Given the description of an element on the screen output the (x, y) to click on. 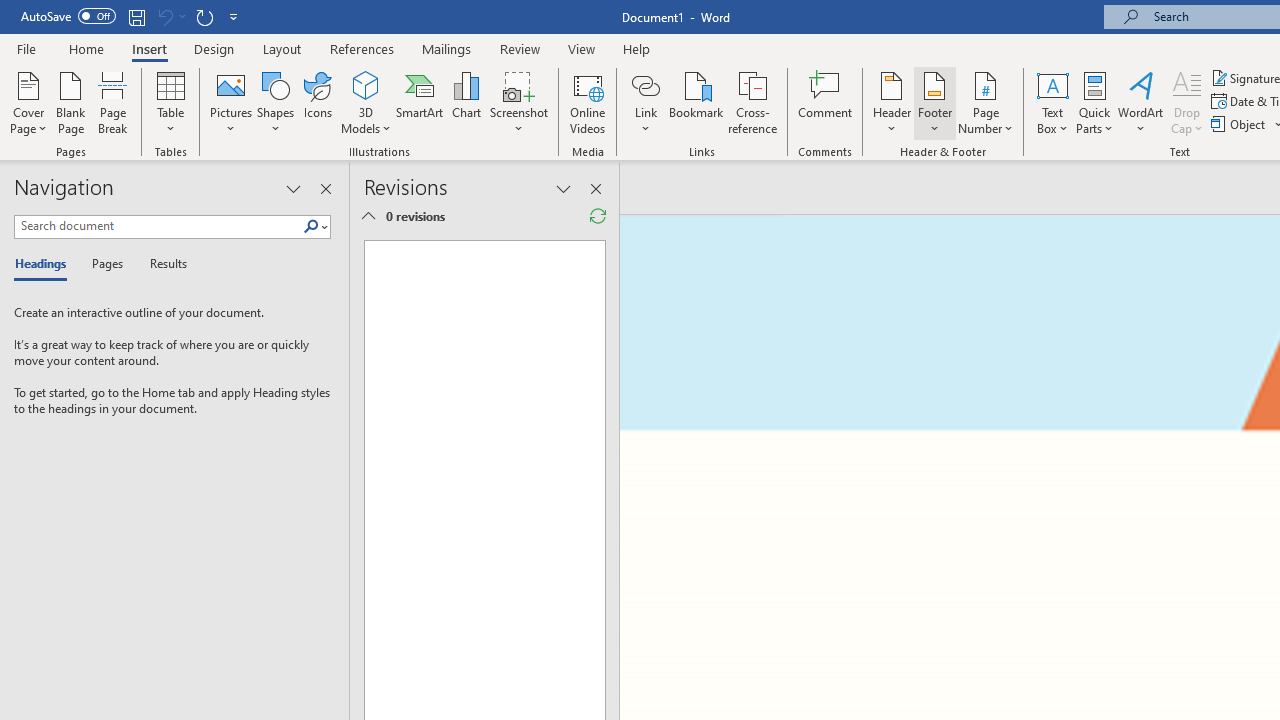
Can't Undo (164, 15)
Bookmark... (695, 102)
Screenshot (518, 102)
Online Videos... (588, 102)
SmartArt... (419, 102)
Icons (317, 102)
